Given the description of an element on the screen output the (x, y) to click on. 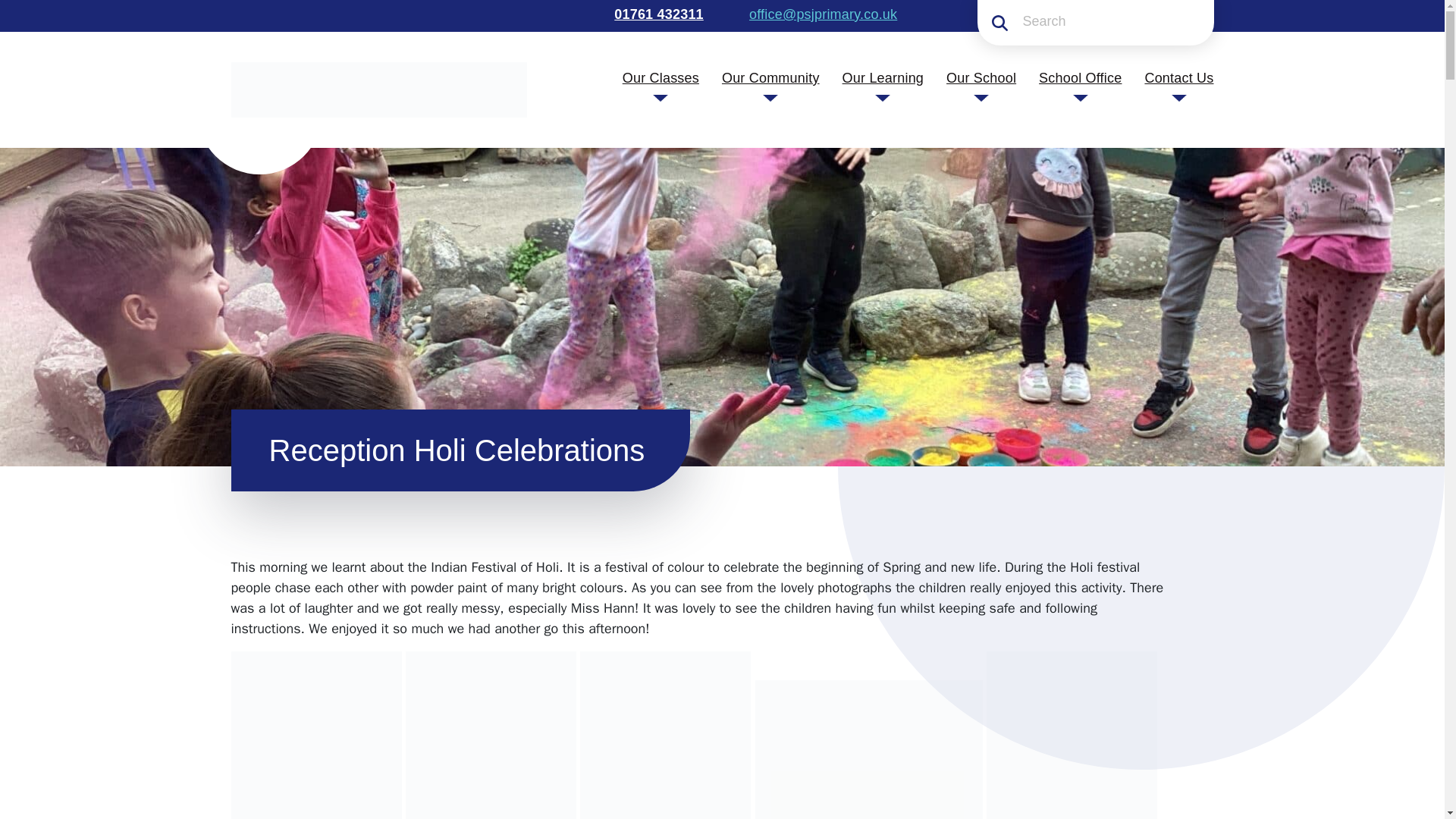
Our Classes (660, 77)
Our Classes (660, 77)
Our Community (770, 77)
Our Learning (883, 77)
01761 432311 (656, 14)
Our School (981, 77)
Our Community (770, 77)
